Given the description of an element on the screen output the (x, y) to click on. 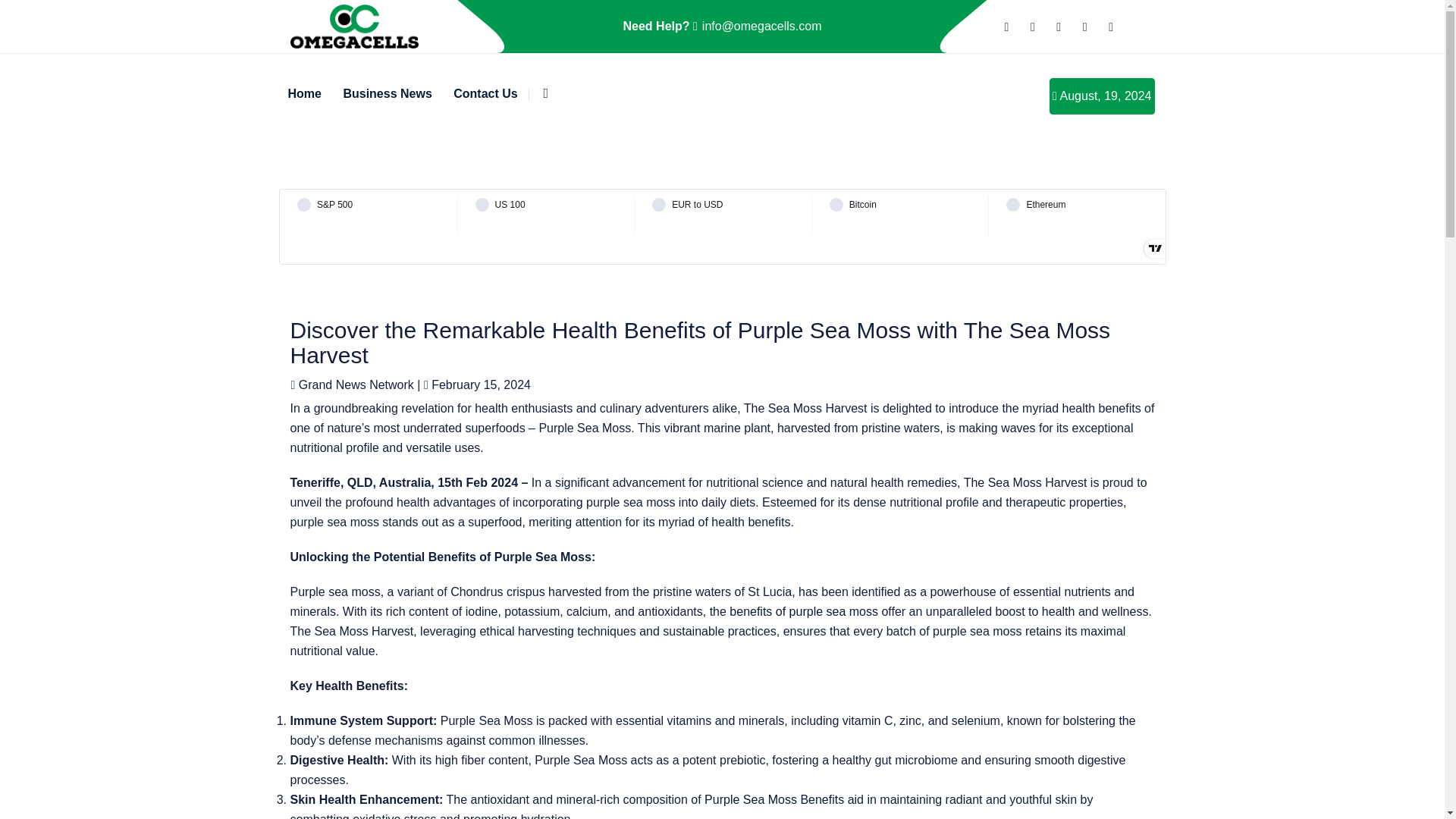
benefits of purple sea moss (803, 611)
Contact Us (484, 94)
Business News (387, 94)
tickers TradingView widget (722, 226)
Purple Sea Moss Benefits (774, 799)
